Given the description of an element on the screen output the (x, y) to click on. 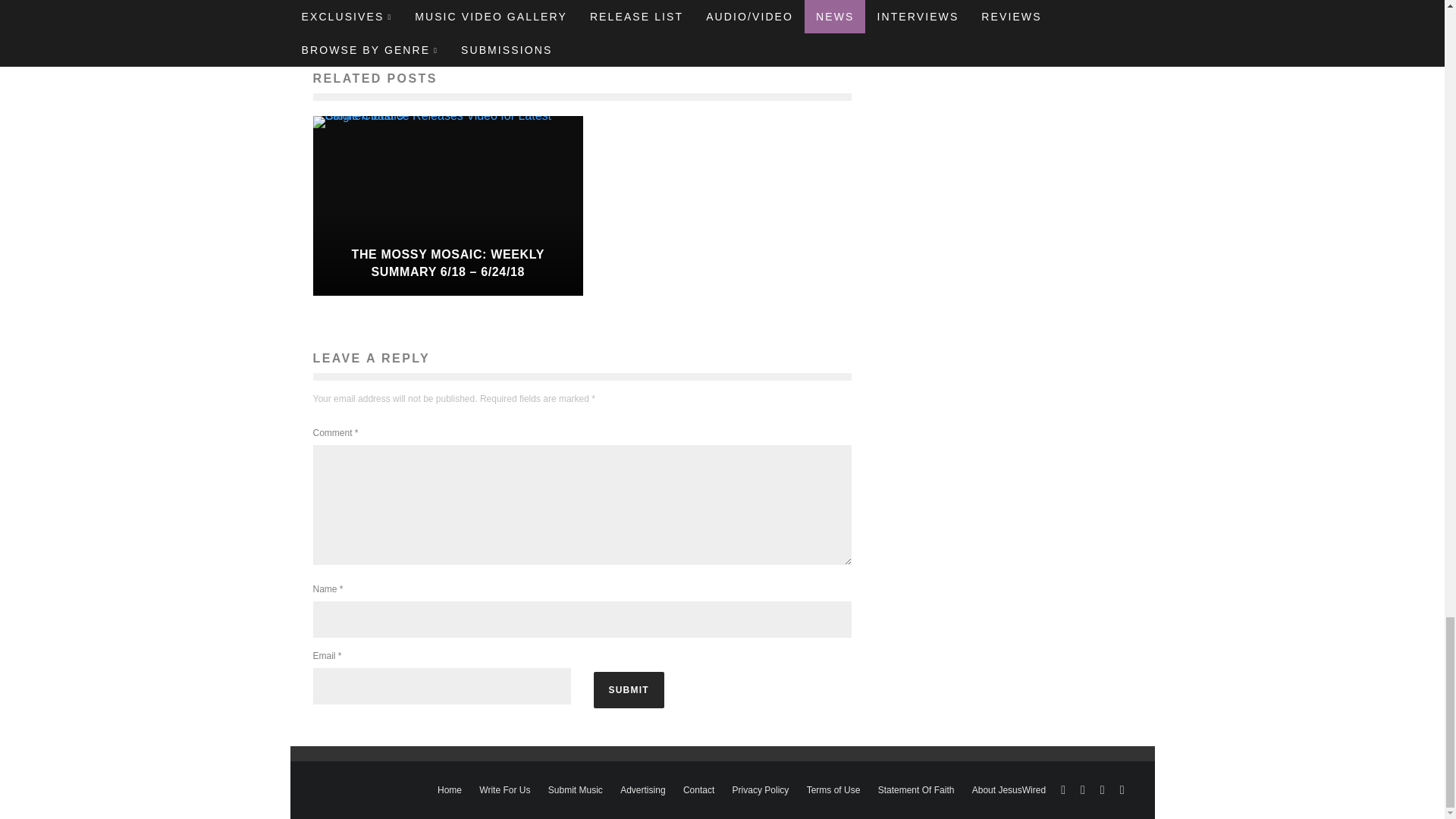
Submit (627, 689)
